Given the description of an element on the screen output the (x, y) to click on. 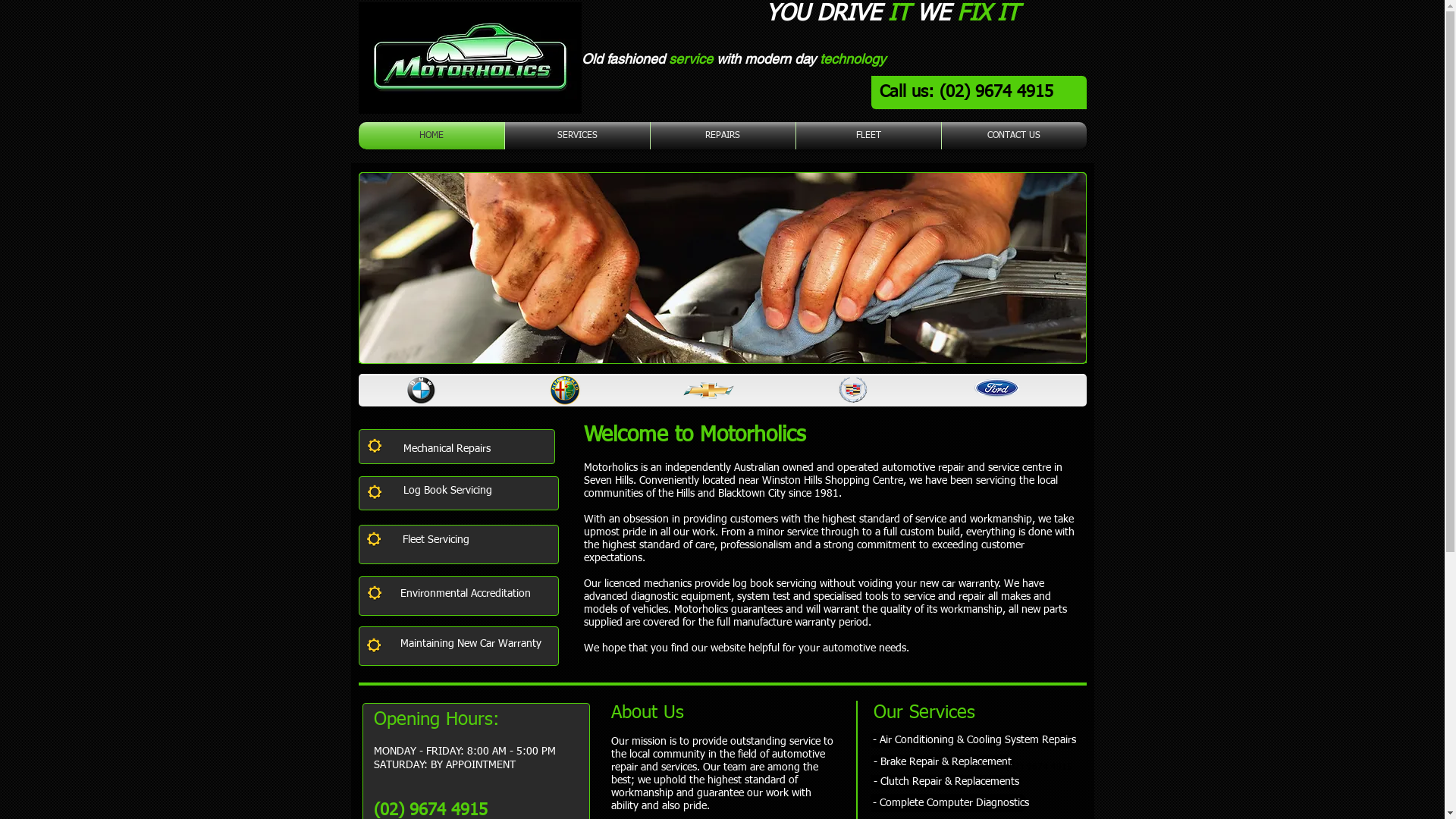
SERVICES Element type: text (577, 135)
- Air Conditioning & Cooling System Repairs Element type: text (974, 740)
Environmental Accreditation Element type: text (474, 593)
- Clutch Repair & Replacements Element type: text (946, 782)
FLEET Element type: text (868, 135)
Maintaining New Car Warranty Element type: text (479, 643)
Fleet Servicing Element type: text (445, 539)
Mechanical Repairs Element type: text (452, 449)
Log Book Servicing Element type: text (452, 490)
- Brake Repair & Replacement Element type: text (942, 762)
CONTACT US Element type: text (1013, 135)
HOME Element type: text (430, 135)
Final+Logo.jpg Element type: hover (468, 57)
REPAIRS Element type: text (722, 135)
- Complete Computer Diagnostics Element type: text (950, 802)
